Given the description of an element on the screen output the (x, y) to click on. 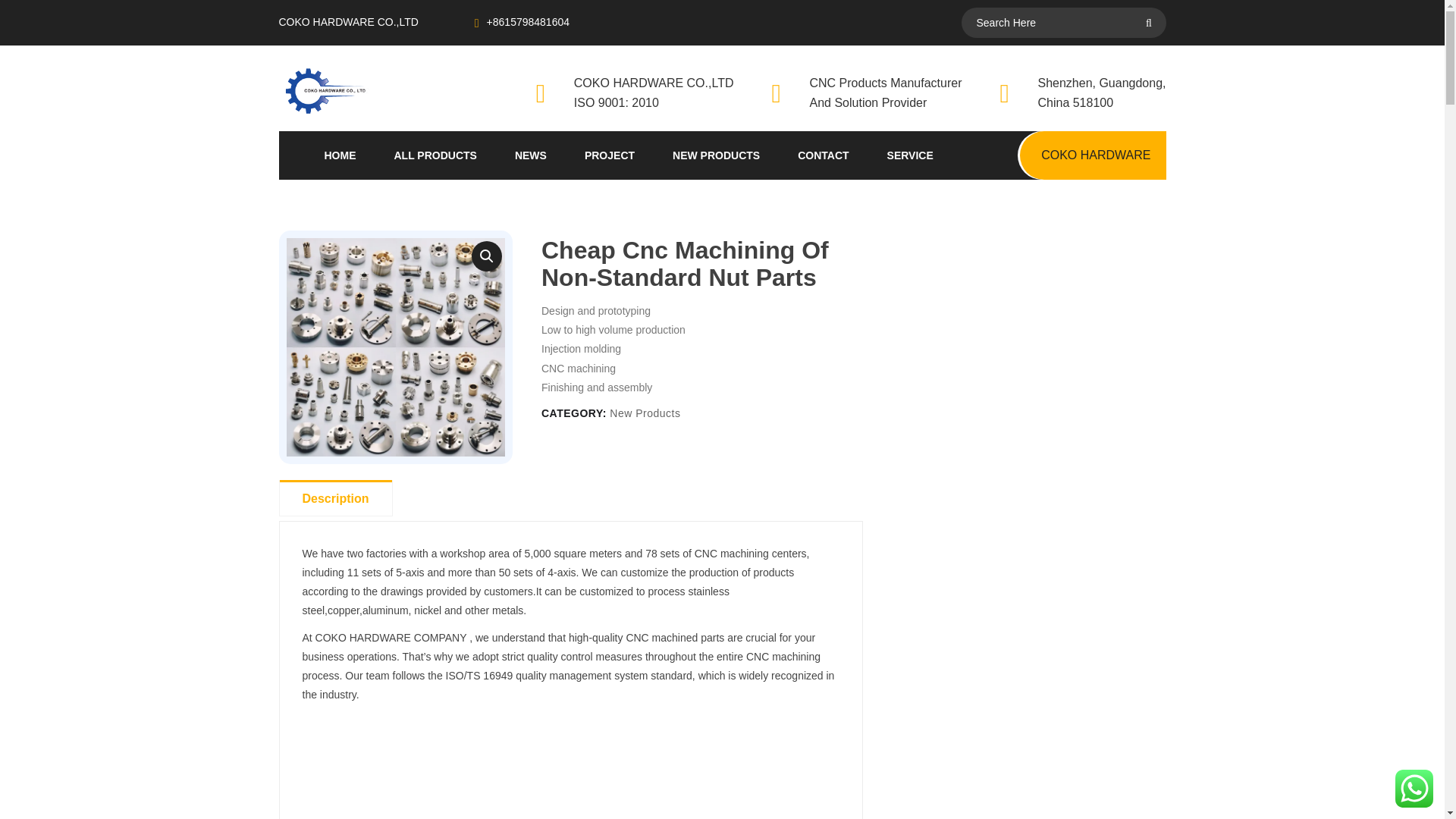
COKO HARDWARE (1093, 155)
CNC Machining products (395, 347)
PROJECT (609, 155)
ALL PRODUCTS (435, 155)
NEW PRODUCTS (716, 155)
COKO (364, 90)
SERVICE (909, 155)
YouTube video player (569, 765)
CONTACT (822, 155)
